Given the description of an element on the screen output the (x, y) to click on. 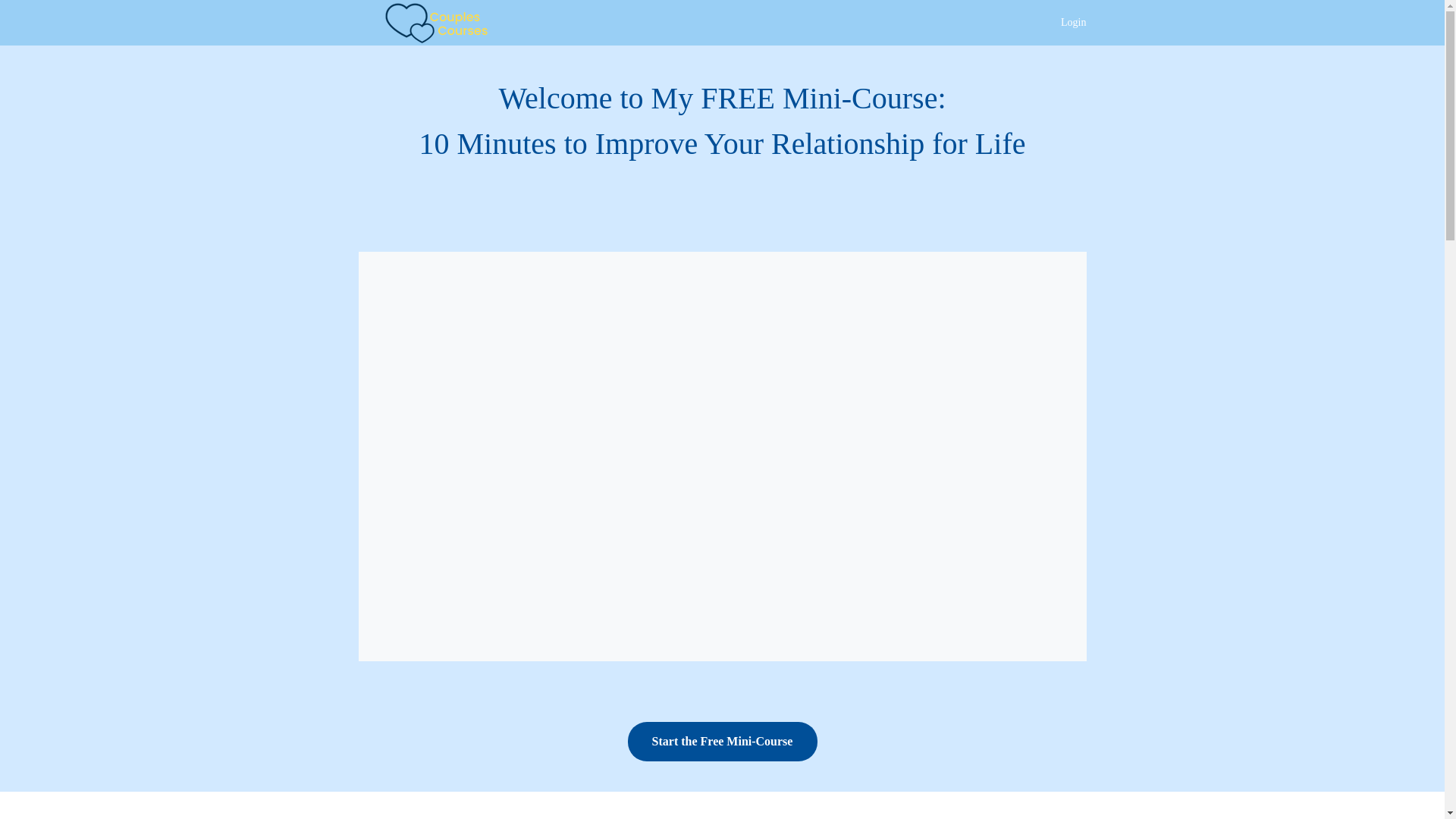
Start the Free Mini-Course (721, 742)
Login (1073, 22)
Start the Free Mini-Course (721, 741)
